Given the description of an element on the screen output the (x, y) to click on. 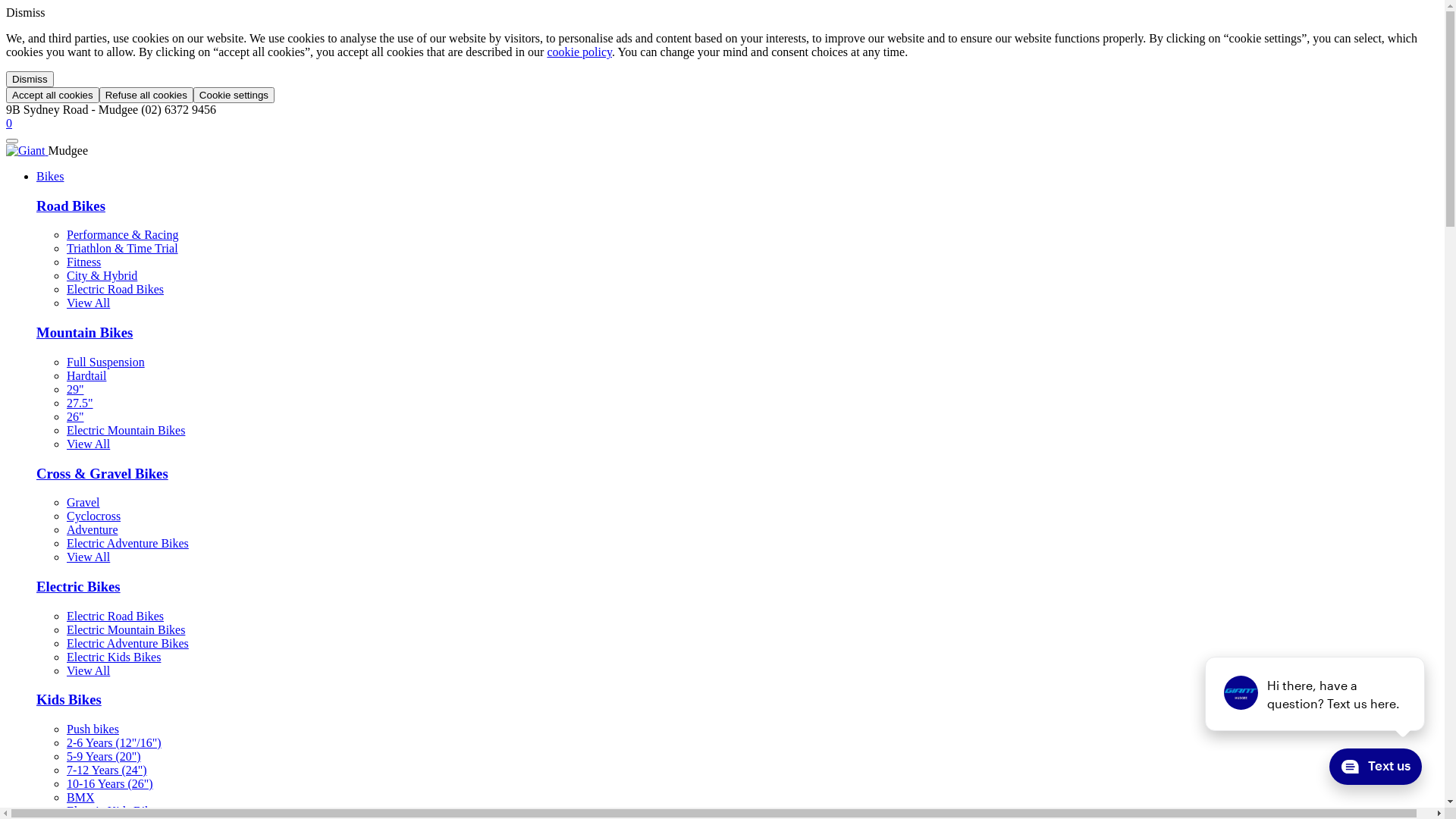
27.5" Element type: text (79, 402)
Road Bikes Element type: text (70, 205)
2-6 Years (12"/16") Element type: text (113, 742)
Hardtail Element type: text (86, 375)
Dismiss Element type: text (29, 79)
Adventure Element type: text (92, 529)
26" Element type: text (75, 416)
Cross & Gravel Bikes Element type: text (102, 473)
Mountain Bikes Element type: text (84, 332)
BMX Element type: text (80, 796)
View All Element type: text (87, 670)
Triathlon & Time Trial Element type: text (122, 247)
Electric Road Bikes Element type: text (114, 615)
Electric Kids Bikes Element type: text (113, 810)
Gravel Element type: text (83, 501)
10-16 Years (26") Element type: text (109, 783)
View All Element type: text (87, 556)
Kids Bikes Element type: text (68, 699)
Accept all cookies Element type: text (52, 95)
Electric Mountain Bikes Element type: text (125, 429)
podium webchat widget prompt Element type: hover (1315, 693)
Electric Mountain Bikes Element type: text (125, 629)
Push bikes Element type: text (92, 728)
7-12 Years (24") Element type: text (106, 769)
Performance & Racing Element type: text (122, 234)
Electric Kids Bikes Element type: text (113, 656)
podium webchat widget bubble Element type: hover (1368, 769)
5-9 Years (20") Element type: text (103, 755)
Fitness Element type: text (83, 261)
0 Element type: text (9, 122)
View All Element type: text (87, 302)
Electric Adventure Bikes Element type: text (127, 643)
City & Hybrid Element type: text (101, 275)
Full Suspension Element type: text (105, 361)
29" Element type: text (75, 388)
Refuse all cookies Element type: text (146, 95)
Bikes Element type: text (49, 175)
Cyclocross Element type: text (93, 515)
cookie policy Element type: text (578, 51)
Electric Road Bikes Element type: text (114, 288)
Electric Bikes Element type: text (78, 586)
Cookie settings Element type: text (233, 95)
Electric Adventure Bikes Element type: text (127, 542)
View All Element type: text (87, 443)
